Given the description of an element on the screen output the (x, y) to click on. 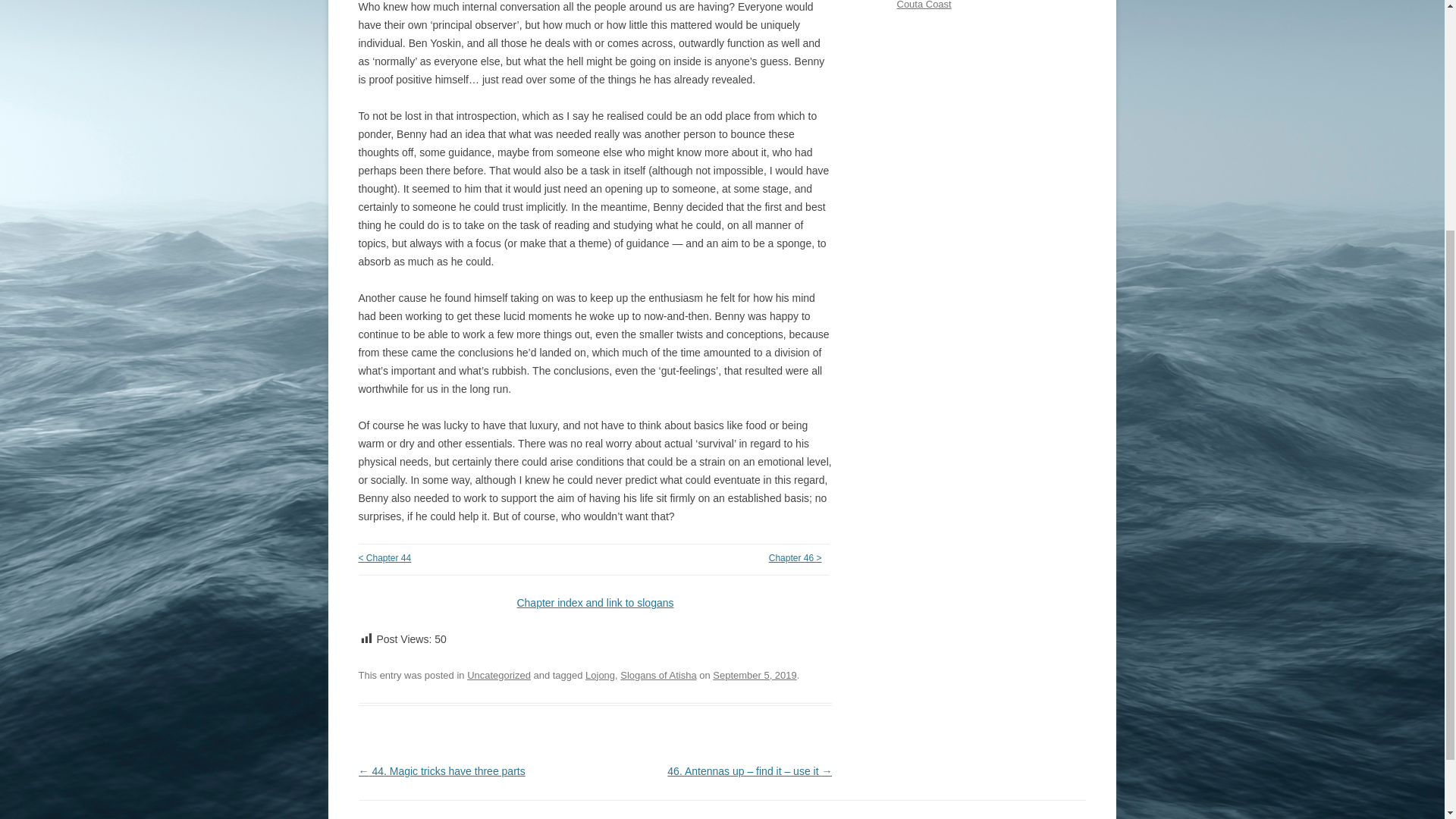
5:25 am (754, 674)
